Given the description of an element on the screen output the (x, y) to click on. 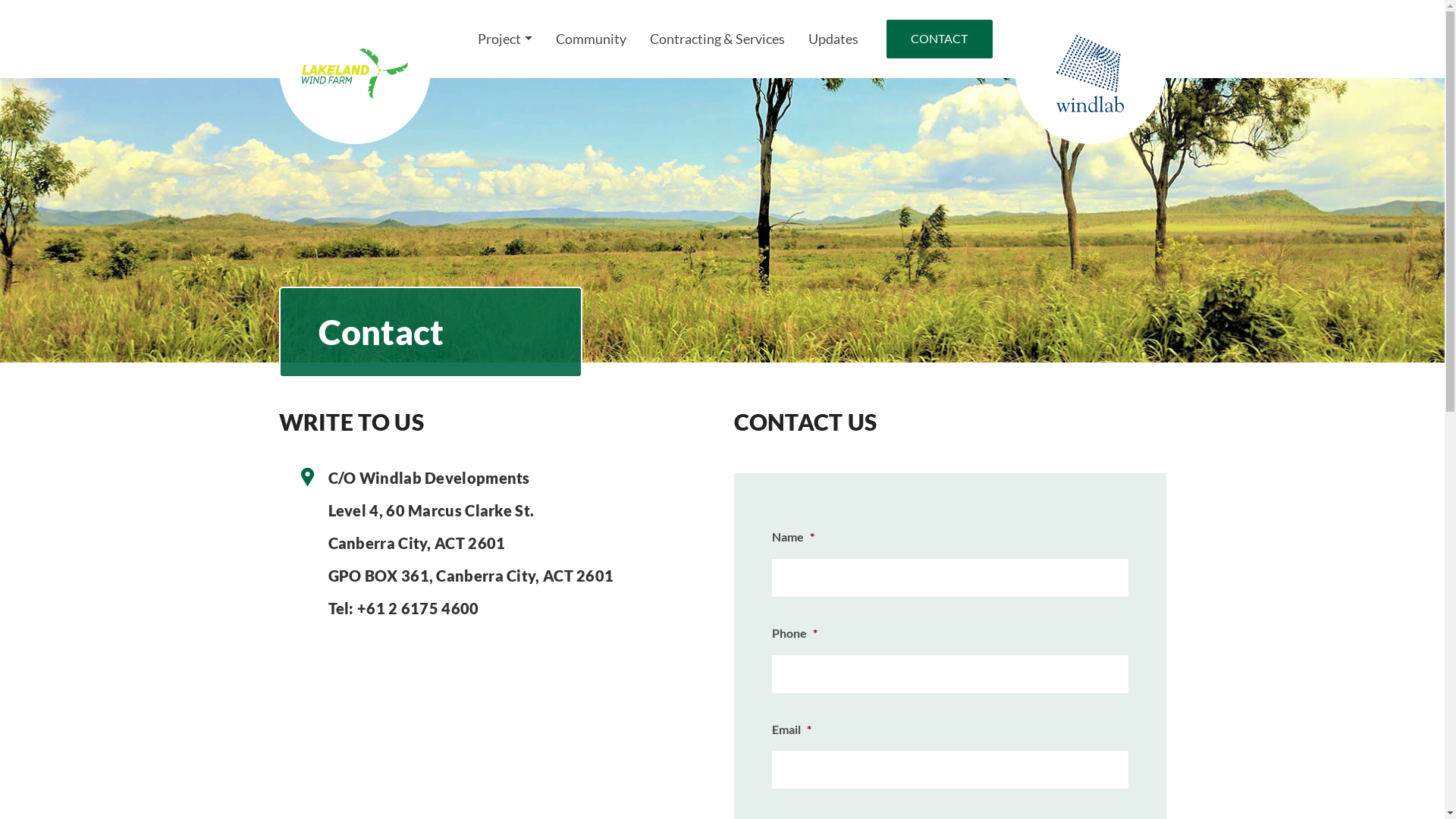
Contracting & Services Element type: text (716, 39)
CONTACT Element type: text (938, 38)
Project Element type: text (504, 38)
Community Element type: text (590, 39)
Updates Element type: text (833, 39)
